Given the description of an element on the screen output the (x, y) to click on. 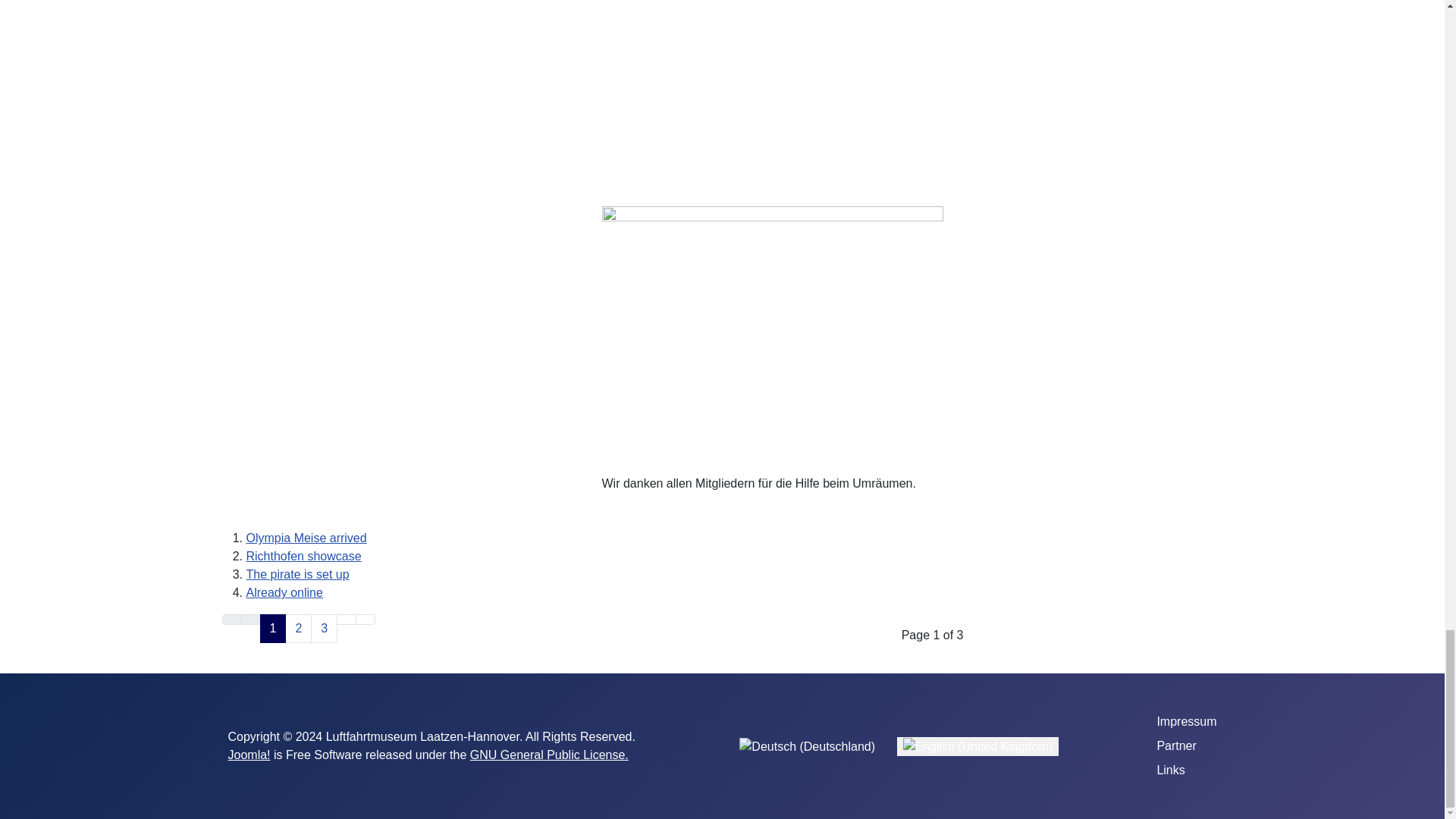
1 (272, 628)
Already online (283, 592)
The pirate is set up (297, 574)
Olympia Meise arrived (306, 537)
2 (298, 628)
Richthofen showcase (303, 555)
